Given the description of an element on the screen output the (x, y) to click on. 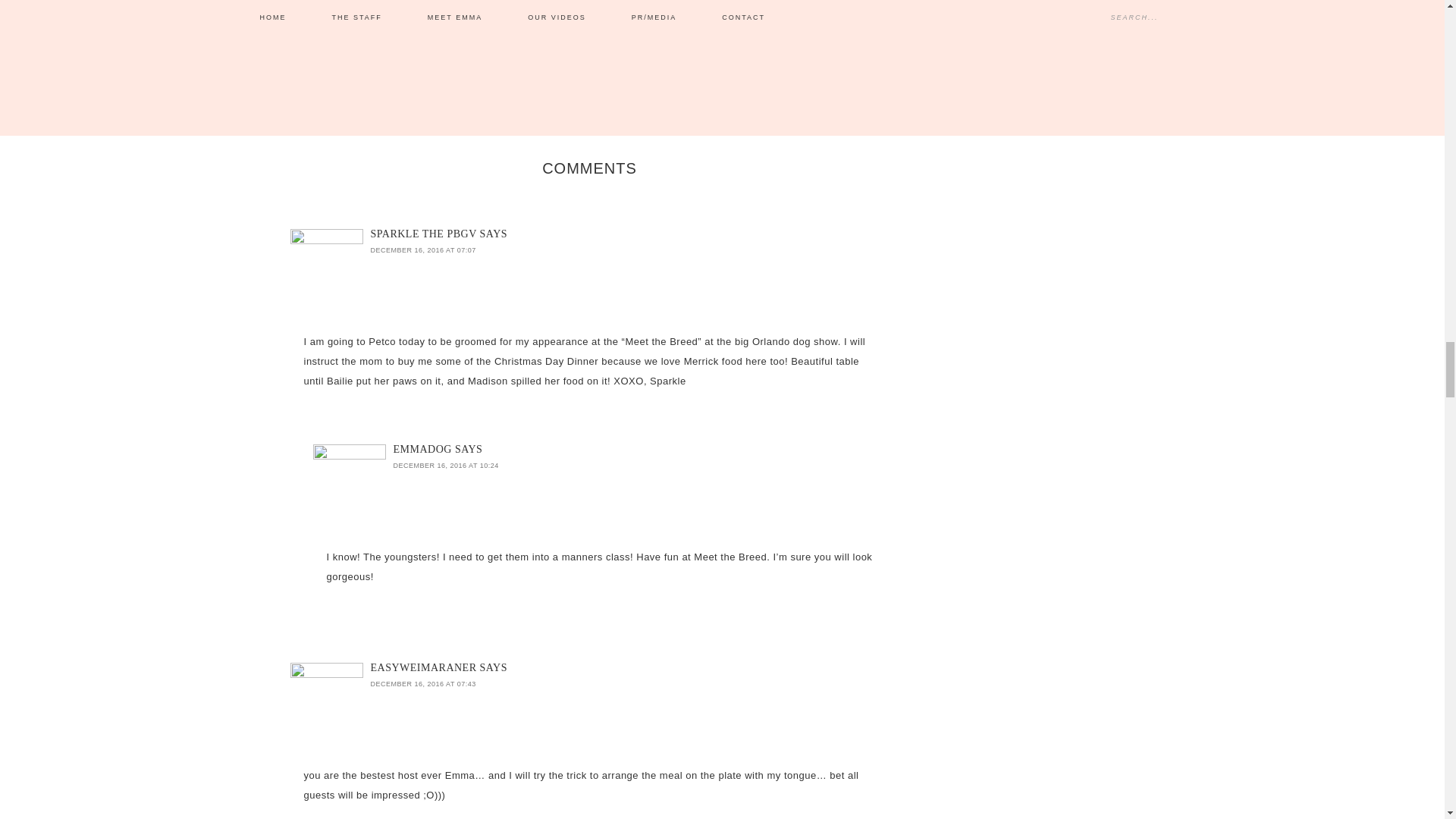
REVIEWS (488, 45)
grain free wet food (697, 44)
DECEMBER 16, 2016 AT 07:07 (422, 249)
DECEMBER 16, 2016 AT 07:43 (422, 683)
DECEMBER 16, 2016 AT 10:24 (445, 465)
holiday food for dogs (784, 44)
EASYWEIMARANER (422, 667)
RECIPES (449, 45)
GBGV (417, 45)
Christmas Day Dinner (608, 44)
